Given the description of an element on the screen output the (x, y) to click on. 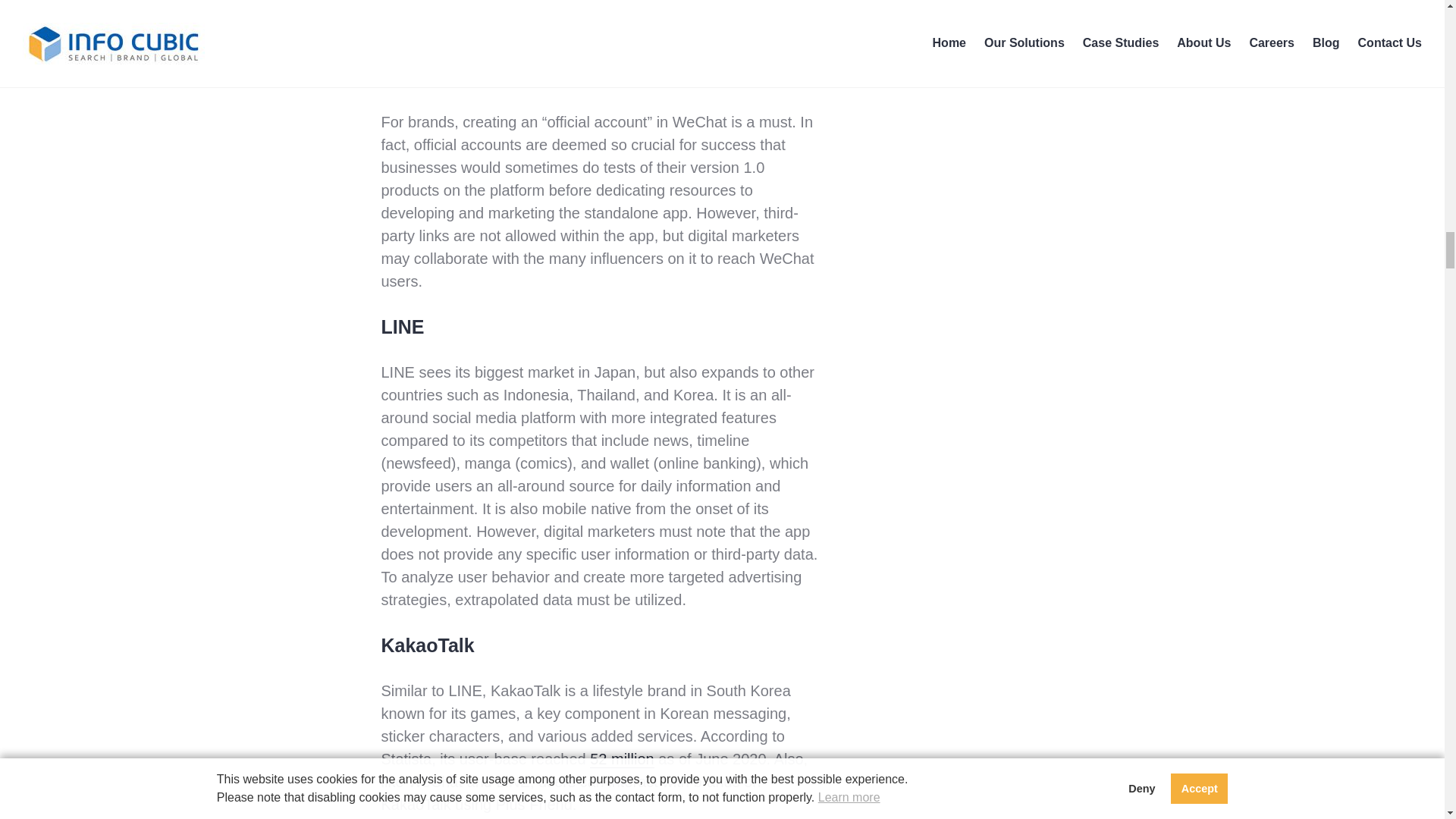
52 million (621, 759)
